Given the description of an element on the screen output the (x, y) to click on. 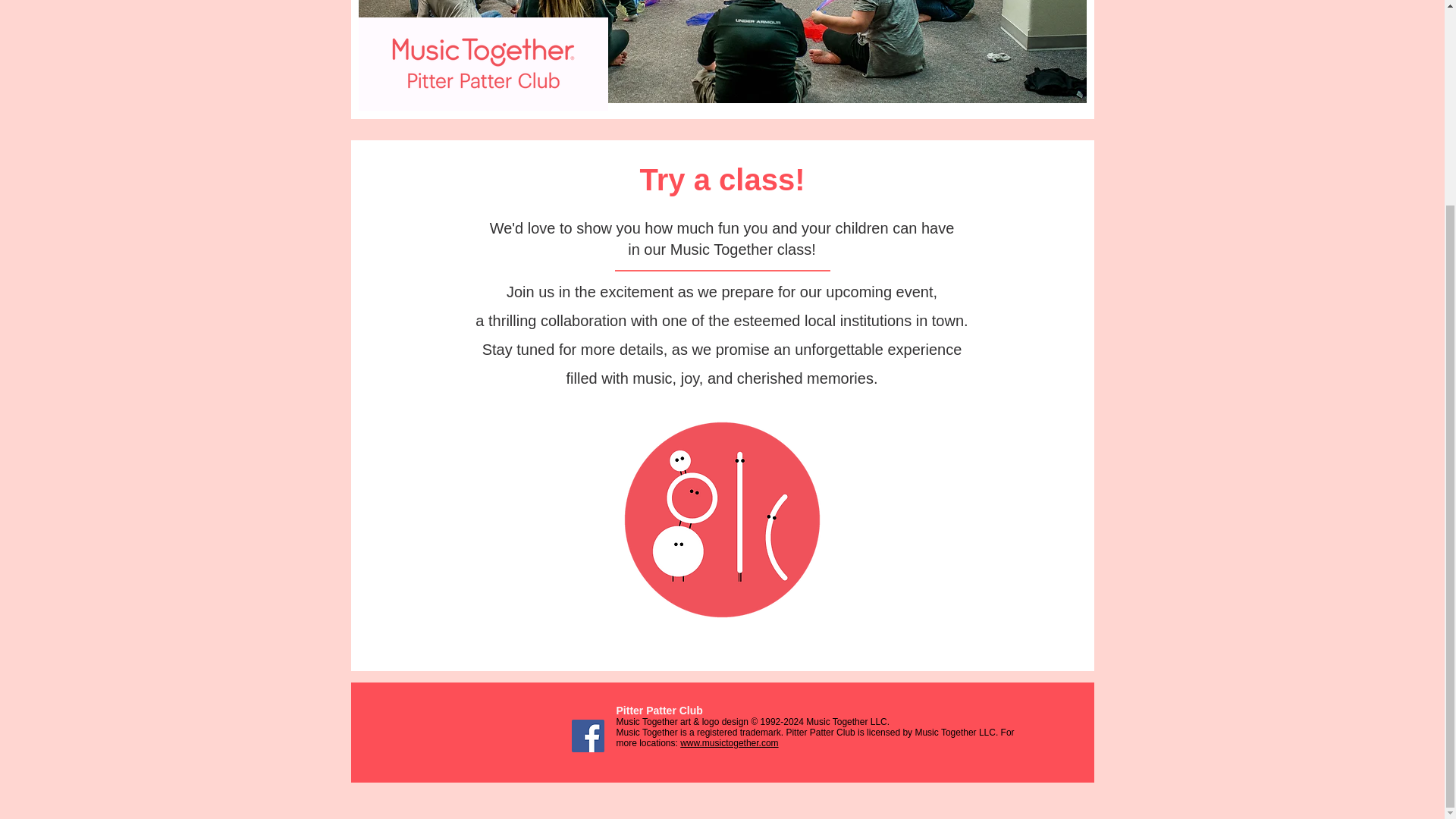
www.musictogether.com (728, 742)
